Given the description of an element on the screen output the (x, y) to click on. 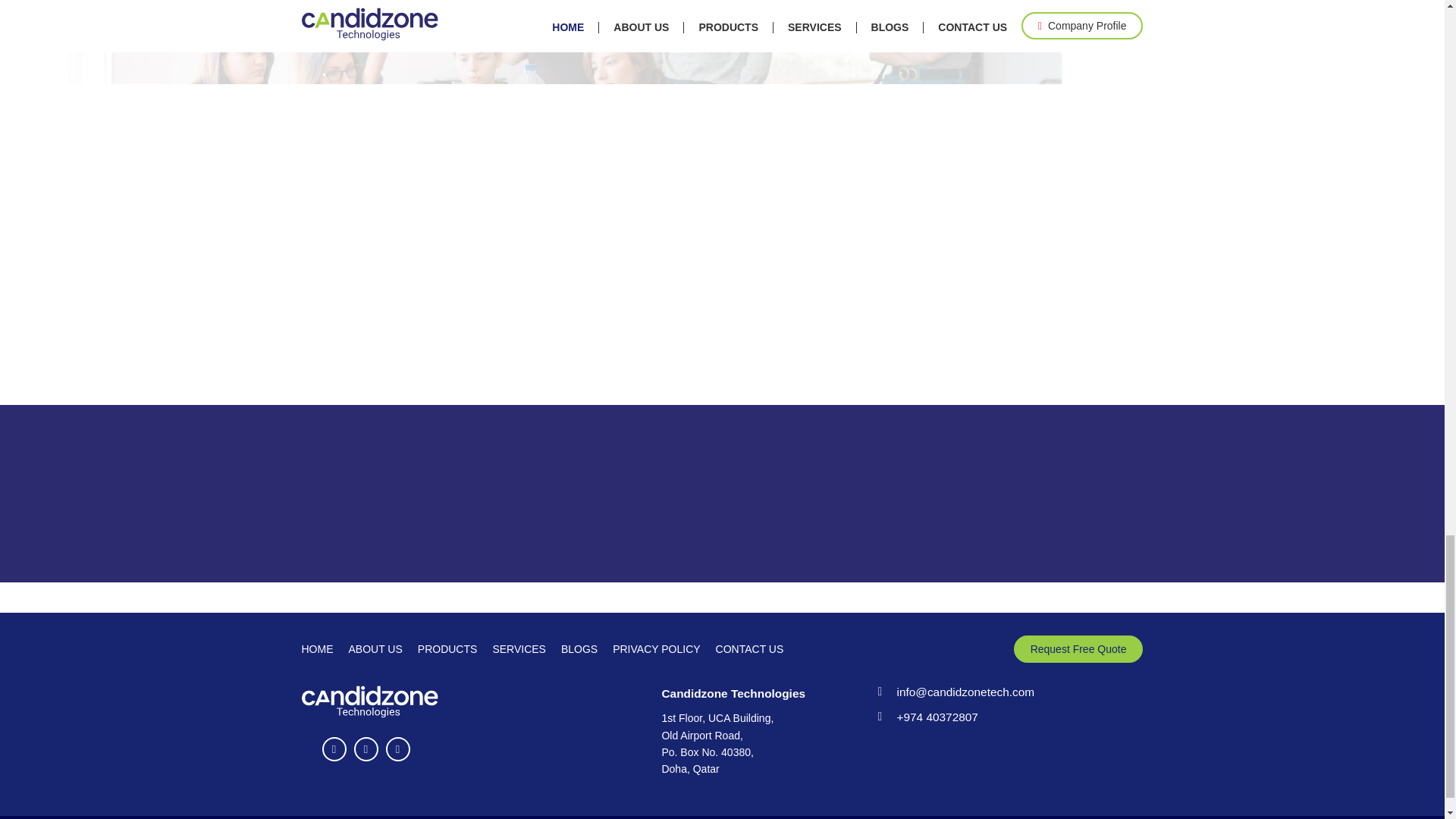
SERVICES (519, 648)
PRODUCTS (447, 648)
BLOGS (578, 648)
CONTACT US (750, 648)
PRIVACY POLICY (656, 648)
Request Free Quote (1077, 648)
HOME (317, 648)
ABOUT US (376, 648)
